Given the description of an element on the screen output the (x, y) to click on. 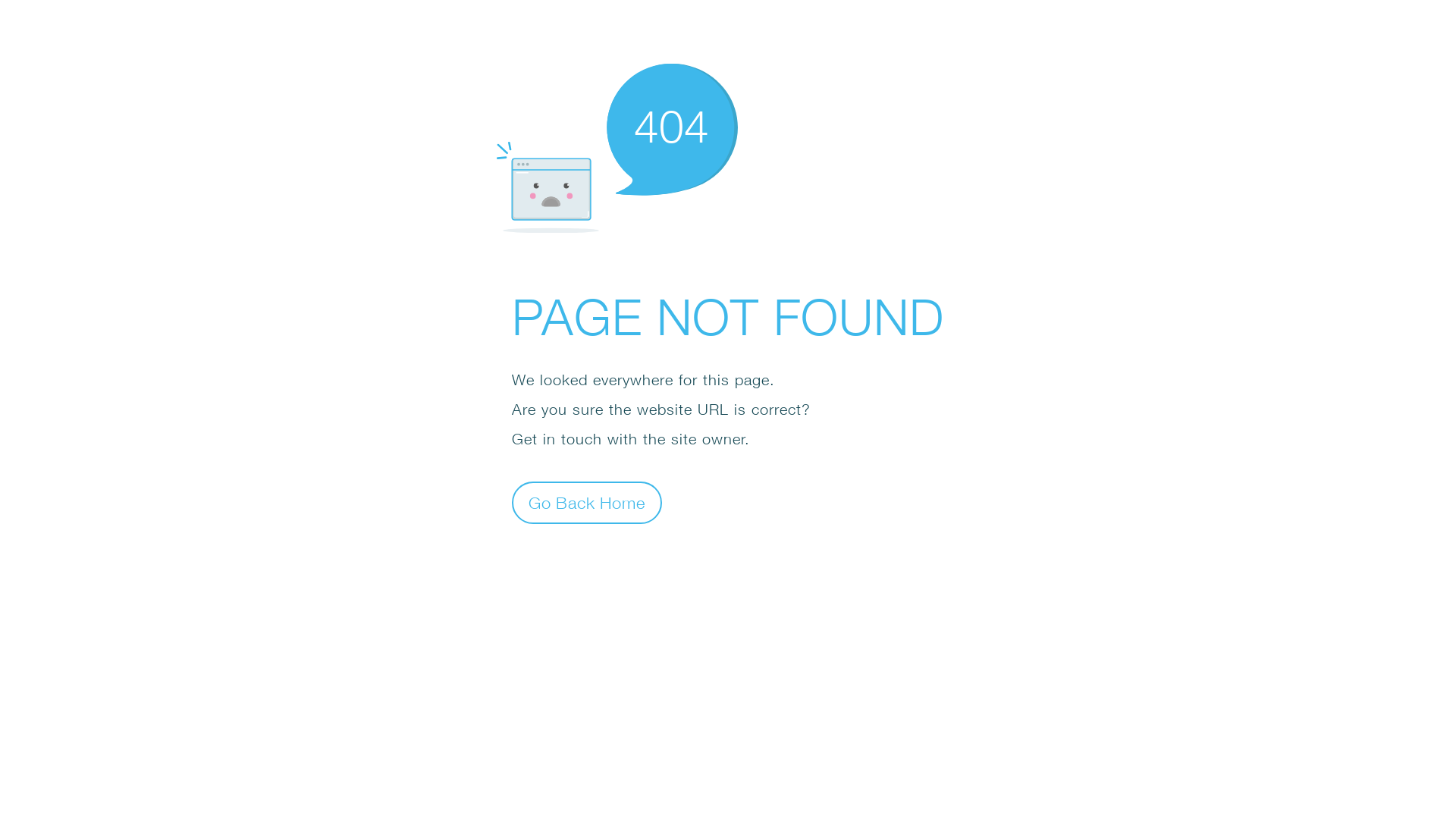
Go Back Home Element type: text (586, 502)
